Given the description of an element on the screen output the (x, y) to click on. 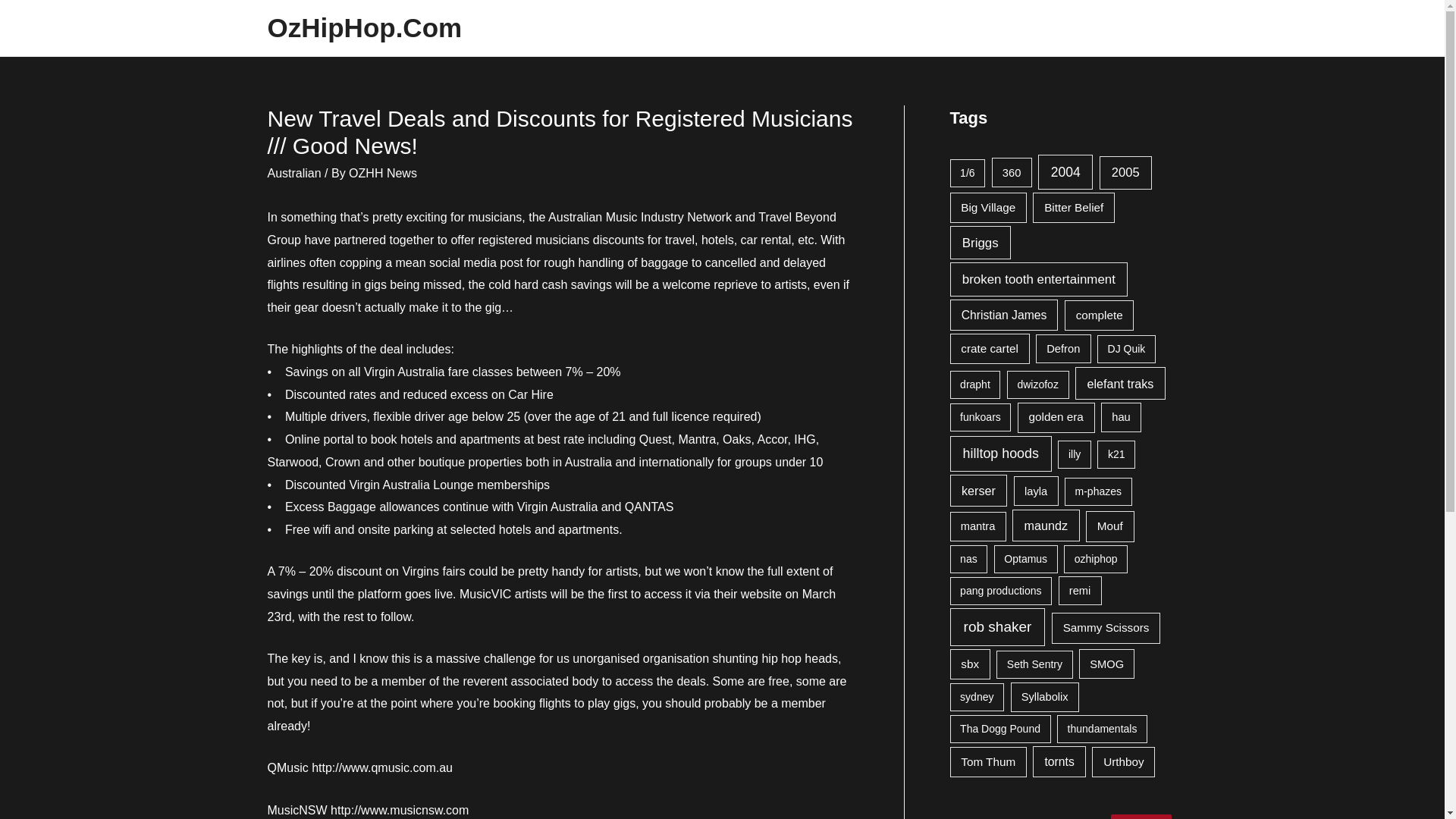
OZHH News (382, 173)
Bitter Belief (1073, 207)
Home (1149, 27)
Australian (293, 173)
Big Village (987, 207)
OzHipHop.Com (363, 27)
Christian James (1003, 314)
360 (1011, 172)
broken tooth entertainment (1037, 278)
2004 (1065, 171)
View all posts by OZHH News (382, 173)
2005 (1125, 172)
Briggs (979, 242)
